Given the description of an element on the screen output the (x, y) to click on. 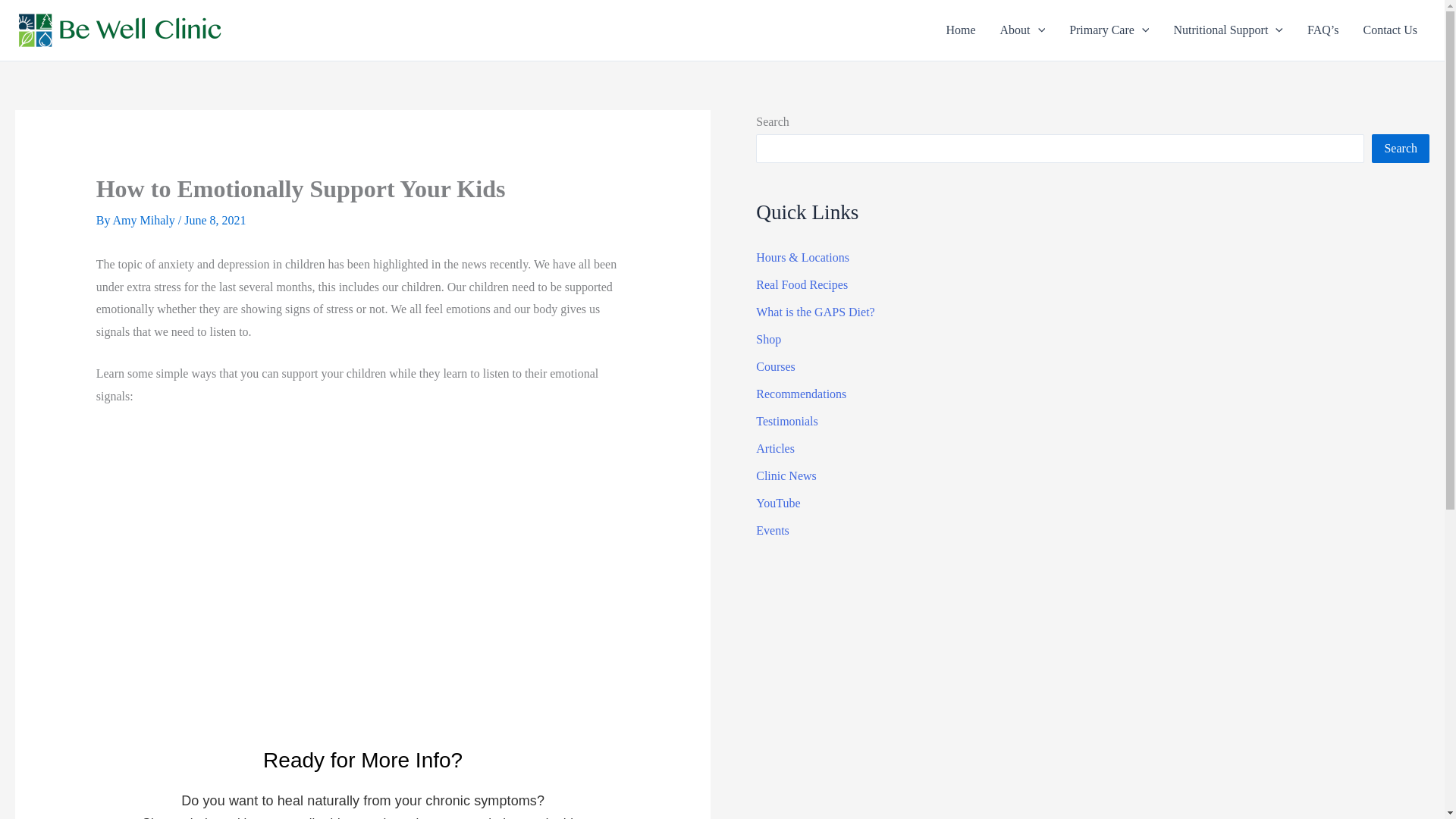
Primary Care (1108, 30)
About (1023, 30)
Contact Us (1390, 30)
View all posts by Amy Mihaly (145, 219)
Amy Mihaly (145, 219)
Nutritional Support (1227, 30)
